Given the description of an element on the screen output the (x, y) to click on. 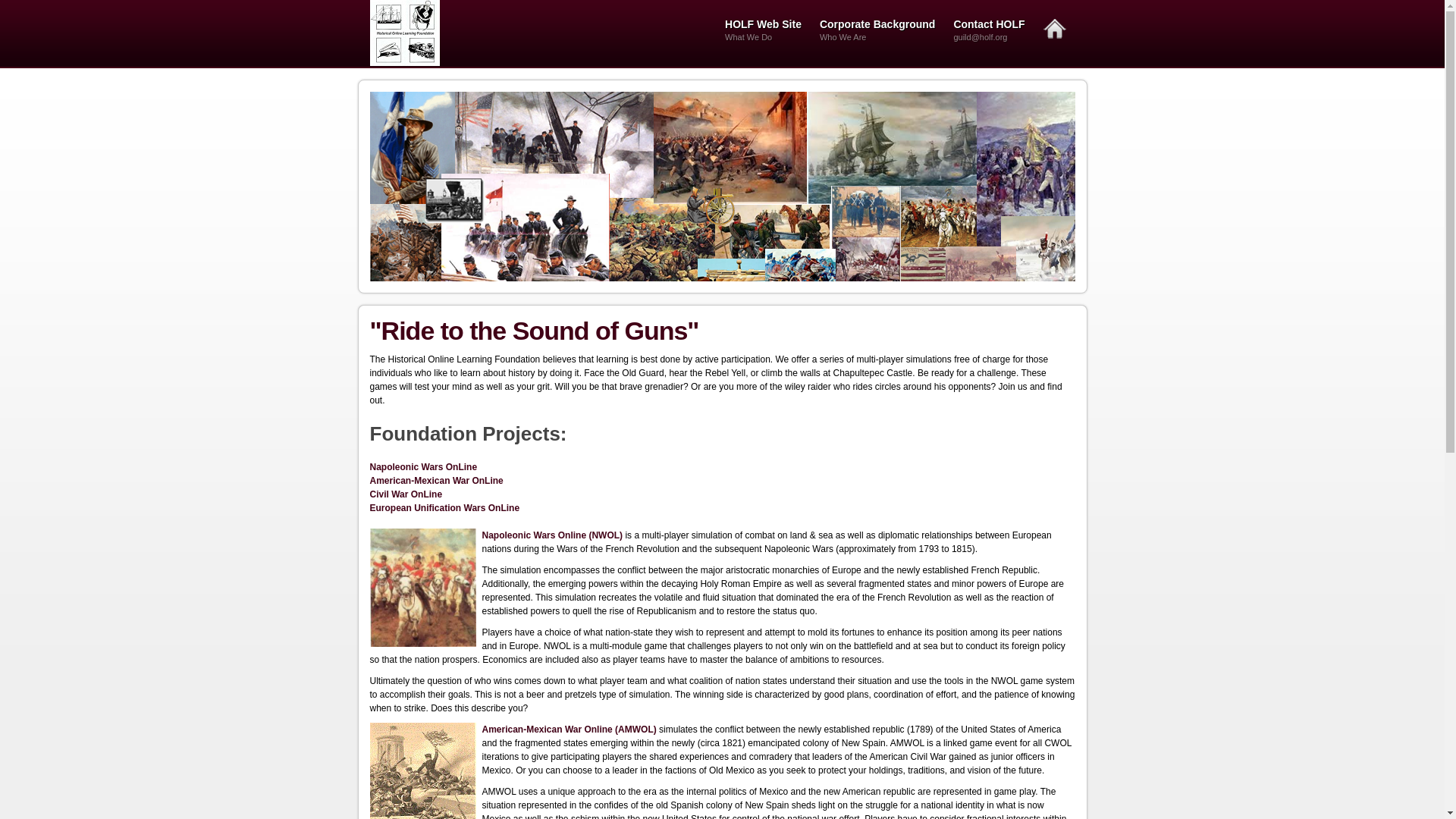
European Unification Wars OnLine (444, 507)
Civil War OnLine (405, 493)
Napoleonic Wars OnLine (423, 466)
American-Mexican War OnLine (436, 480)
